Given the description of an element on the screen output the (x, y) to click on. 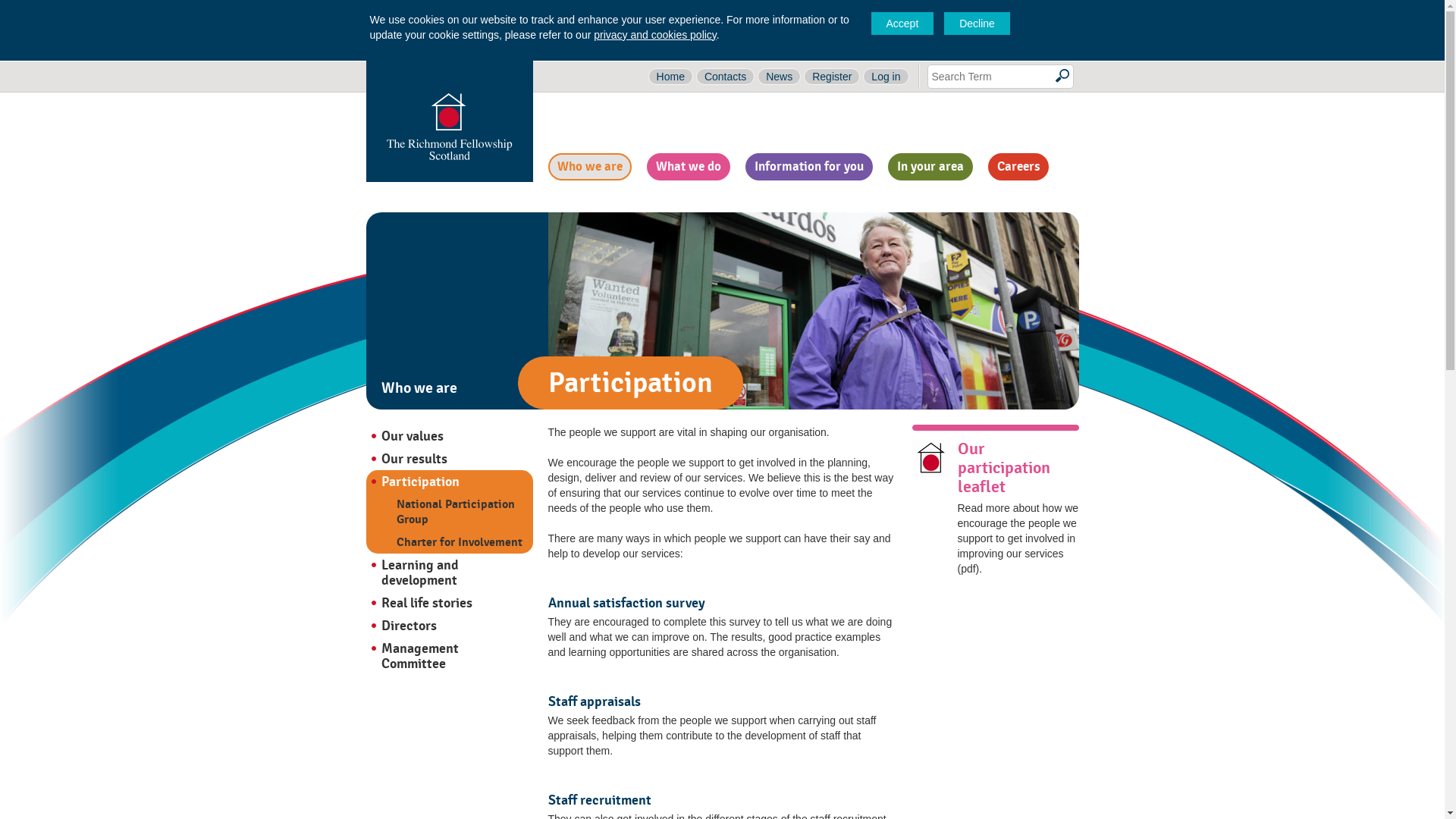
Real life stories (448, 602)
Careers (1017, 166)
Charter for Involvement (464, 541)
Who we are (588, 166)
Register (831, 76)
Log in (885, 76)
Charter for Involvement (464, 541)
What we do (687, 166)
Information for you (808, 166)
Management Committee (448, 655)
